Given the description of an element on the screen output the (x, y) to click on. 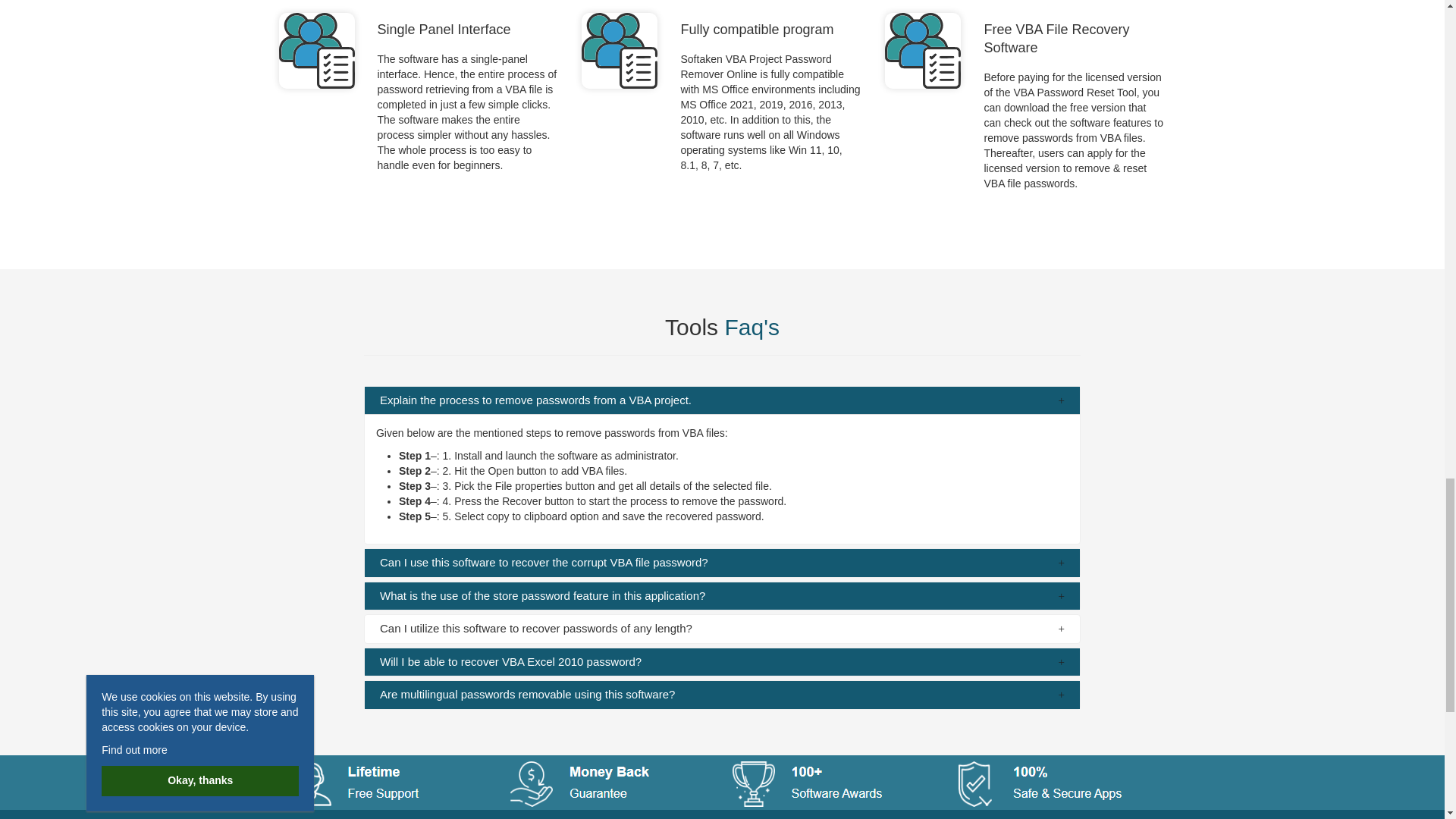
Explain the process to remove passwords from a VBA project. (722, 400)
Will I be able to recover VBA Excel 2010 password? (722, 662)
Are multilingual passwords removable using this software? (722, 694)
